Given the description of an element on the screen output the (x, y) to click on. 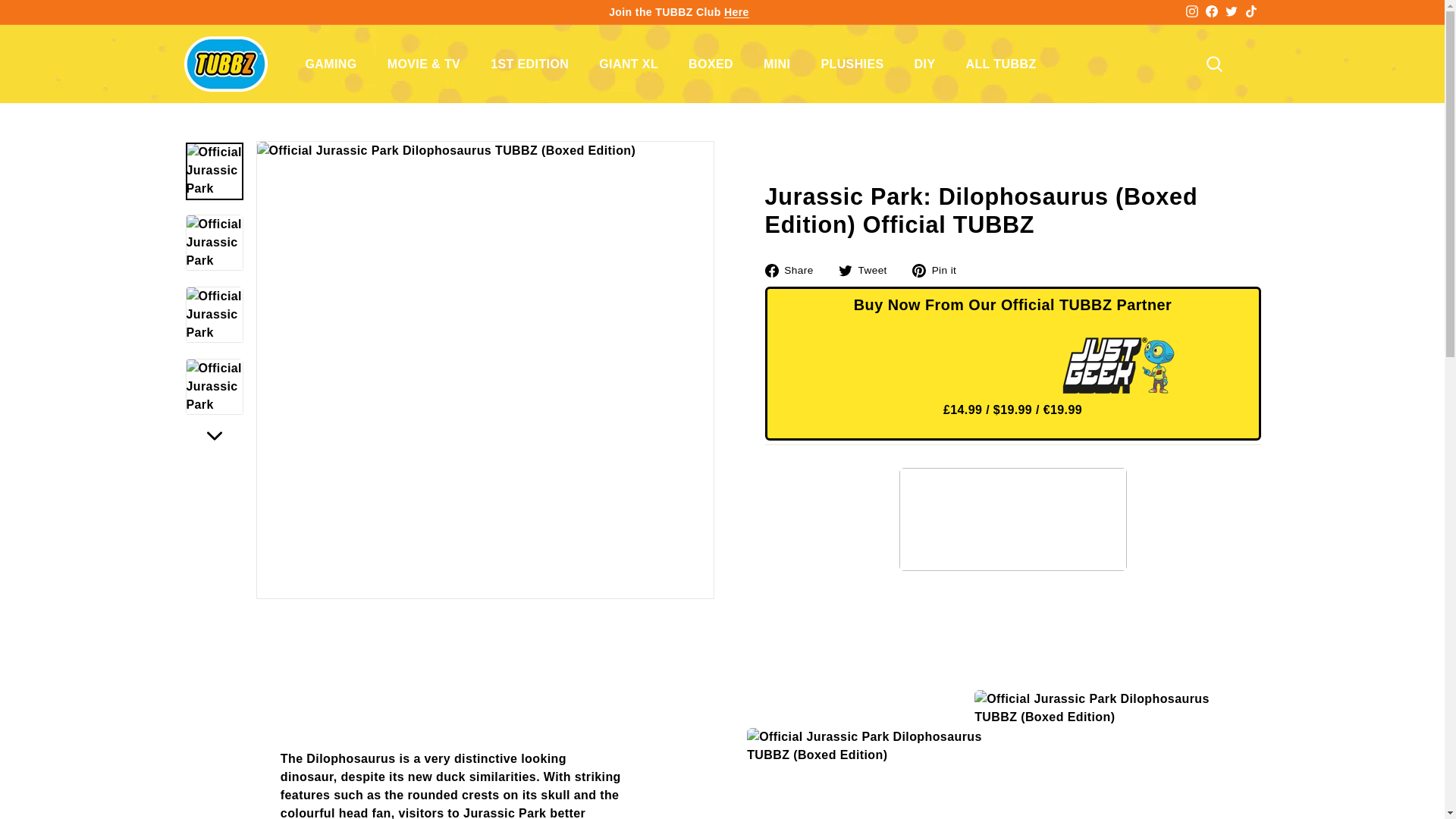
Tweet on Twitter (868, 270)
Here (736, 11)
Share on Facebook (794, 270)
Pin on Pinterest (940, 270)
GAMING (330, 64)
